Given the description of an element on the screen output the (x, y) to click on. 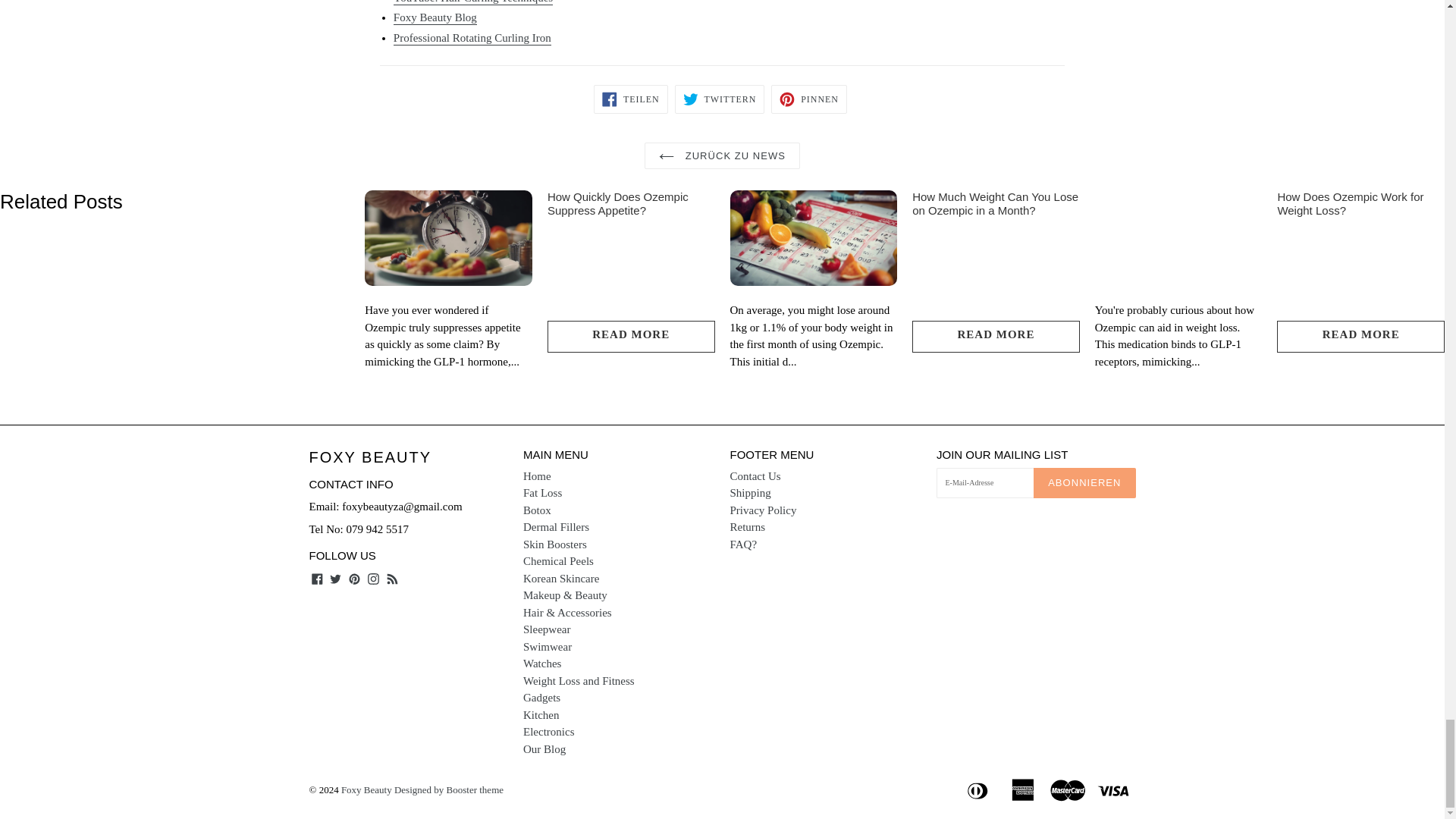
Foxy Beauty auf Instagram (373, 578)
Foxy Beauty auf Twitter (335, 578)
Auf Twitter twittern (720, 99)
diners club (979, 788)
american express (1024, 788)
Foxy Beauty auf Pinterest (354, 578)
visa (1114, 788)
Auf Facebook teilen (631, 99)
Foxy Beauty auf Facebook (316, 578)
Auf Pinterest pinnen (809, 99)
